Given the description of an element on the screen output the (x, y) to click on. 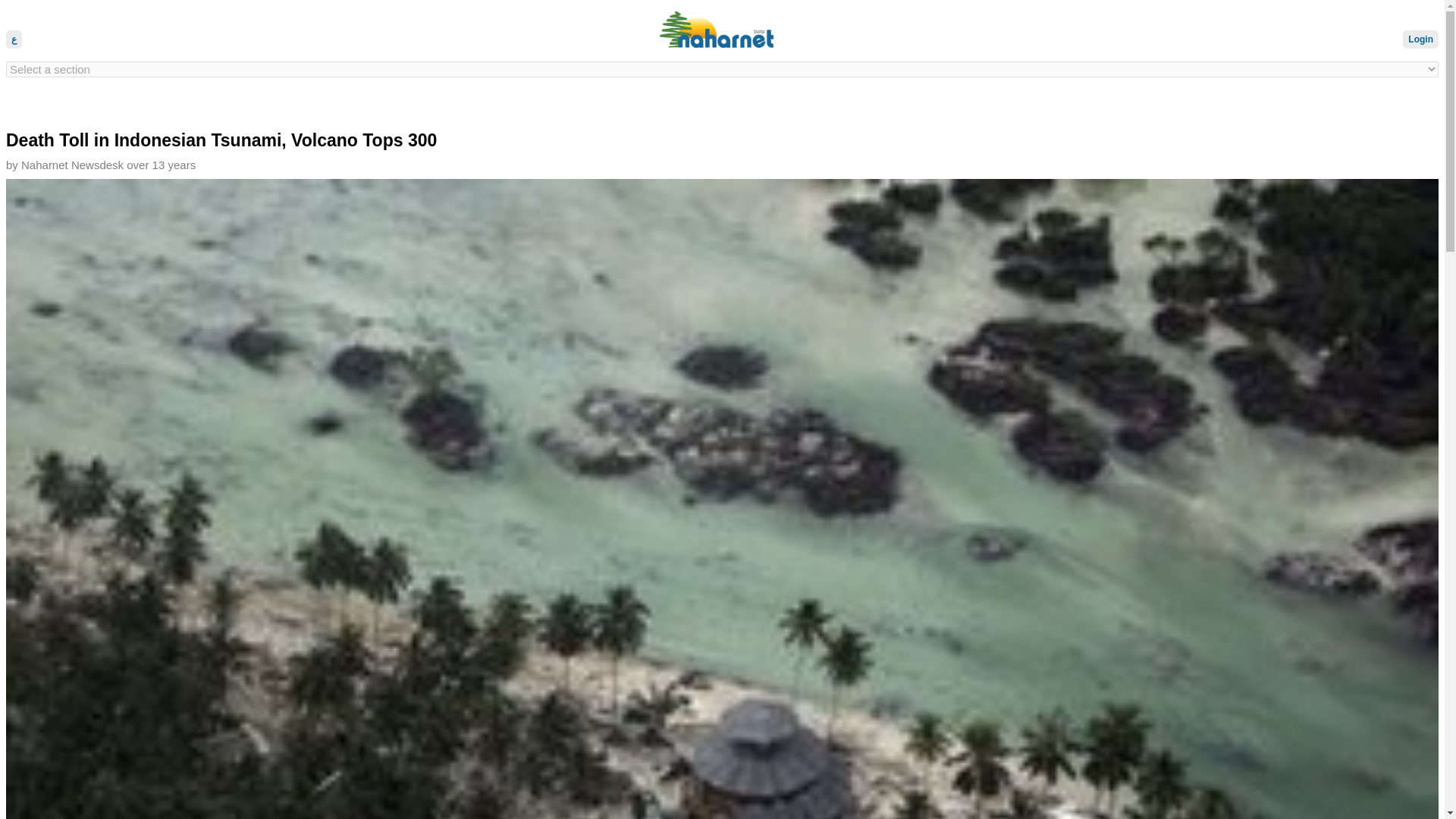
Naharnet (721, 30)
3rd party ad content (715, 103)
Login (1420, 39)
